Given the description of an element on the screen output the (x, y) to click on. 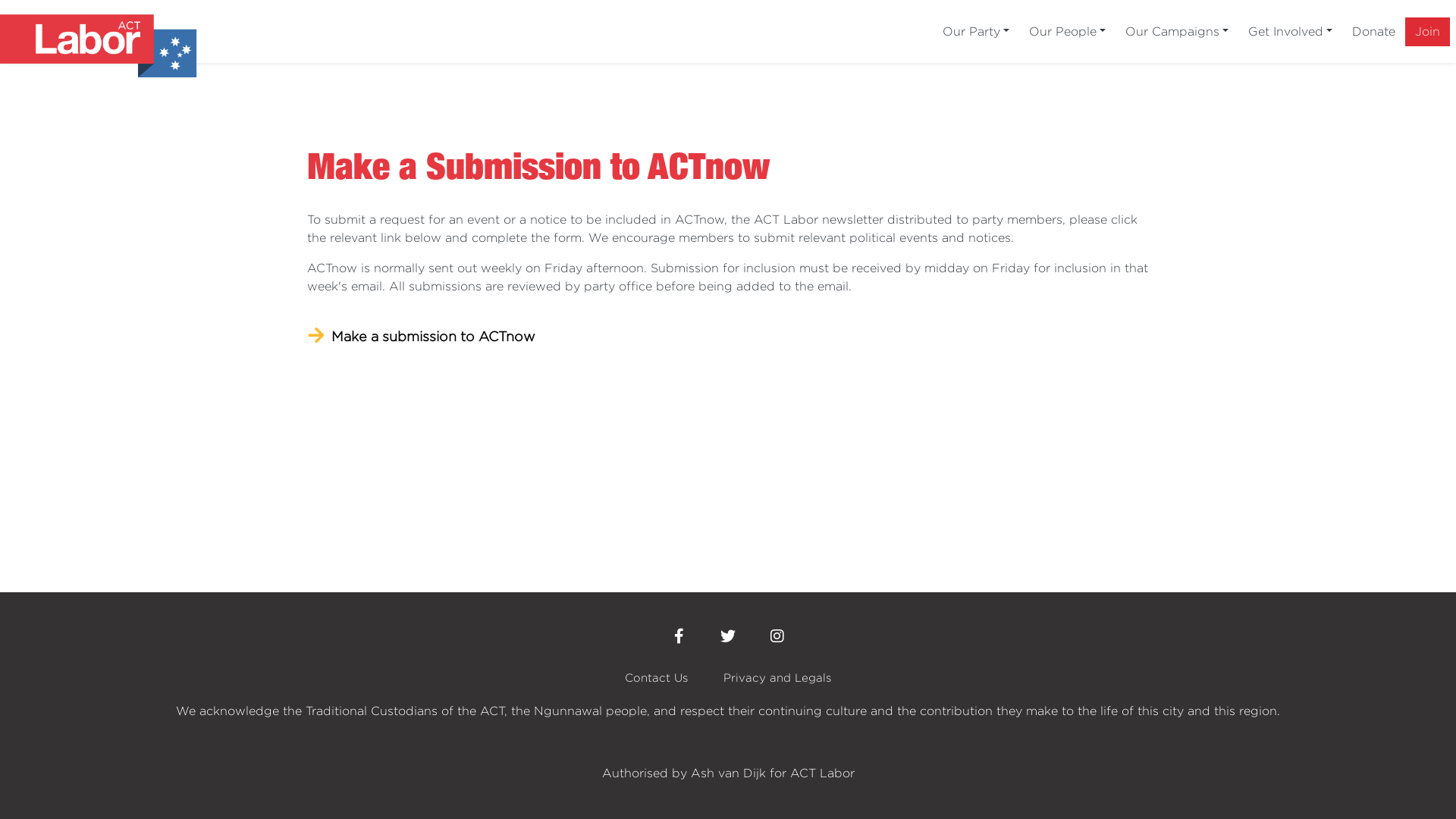
Make a submission to ACTnow Element type: text (727, 336)
Get Involved Element type: text (1290, 30)
Donate Element type: text (1373, 30)
Privacy and Legals Element type: text (776, 677)
Our Campaigns Element type: text (1176, 30)
Contact Us Element type: text (656, 677)
Our People Element type: text (1067, 30)
Our Party Element type: text (975, 30)
Join Element type: text (1427, 30)
